Given the description of an element on the screen output the (x, y) to click on. 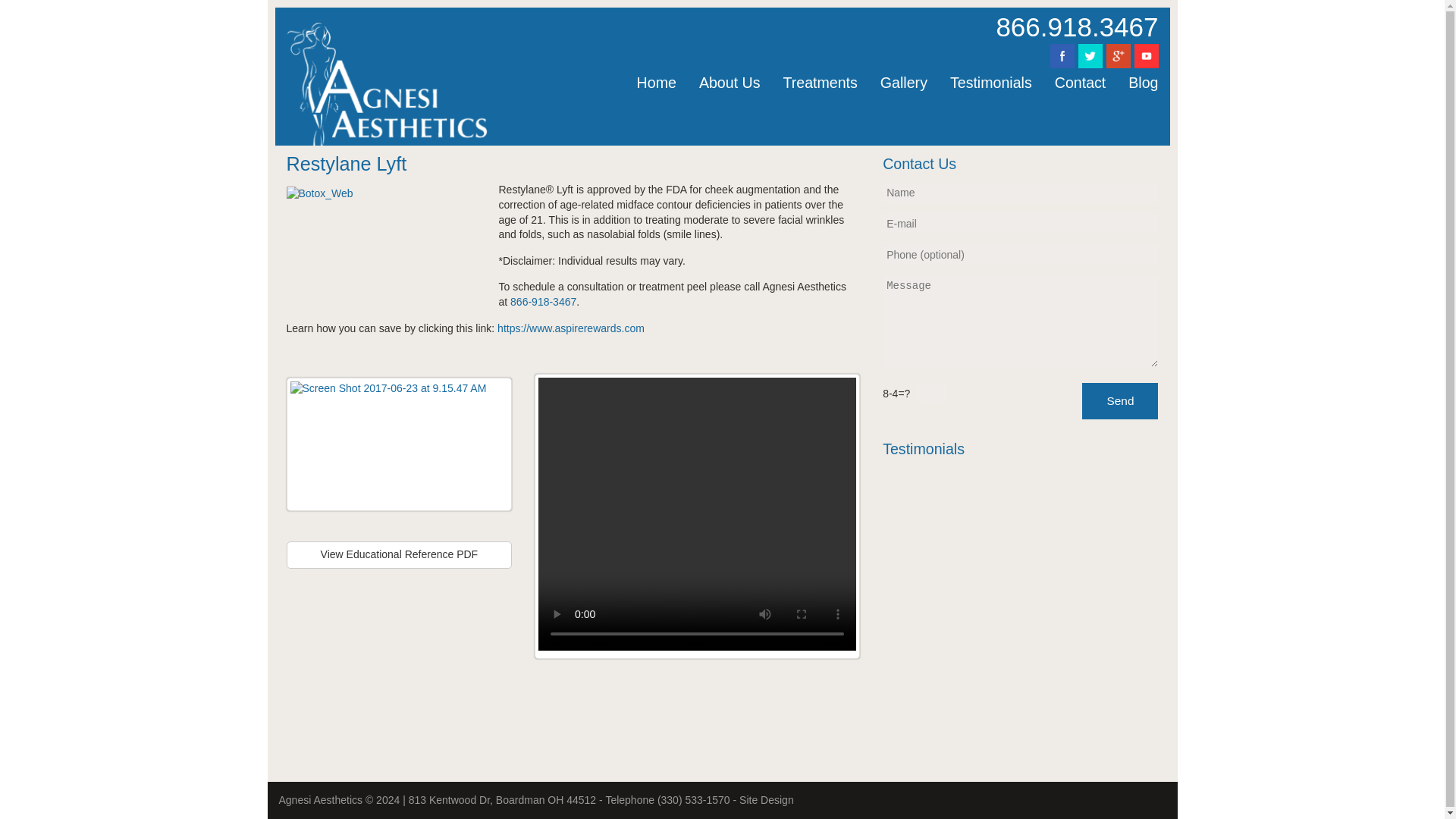
View Educational Reference PDF (399, 555)
Facebook (1117, 55)
Send (1119, 401)
About Us (729, 82)
Facebook (1061, 55)
Home (656, 82)
Contact (1080, 82)
866.918.3467 (1076, 26)
Gallery (904, 82)
Treatments (819, 82)
